Given the description of an element on the screen output the (x, y) to click on. 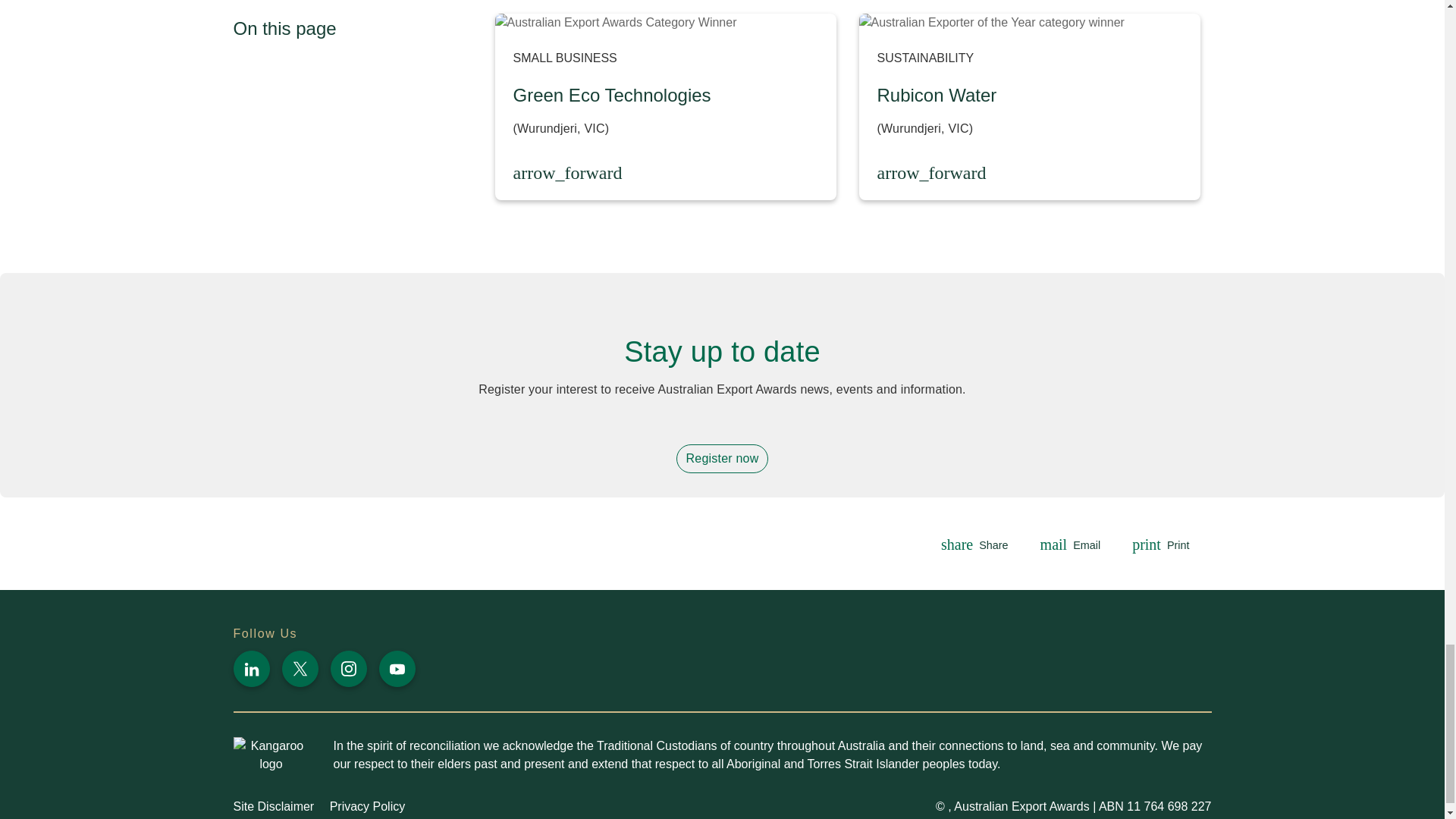
Twitter (300, 668)
YouTube (396, 668)
Instagram (348, 668)
LinkedIn (250, 668)
